Given the description of an element on the screen output the (x, y) to click on. 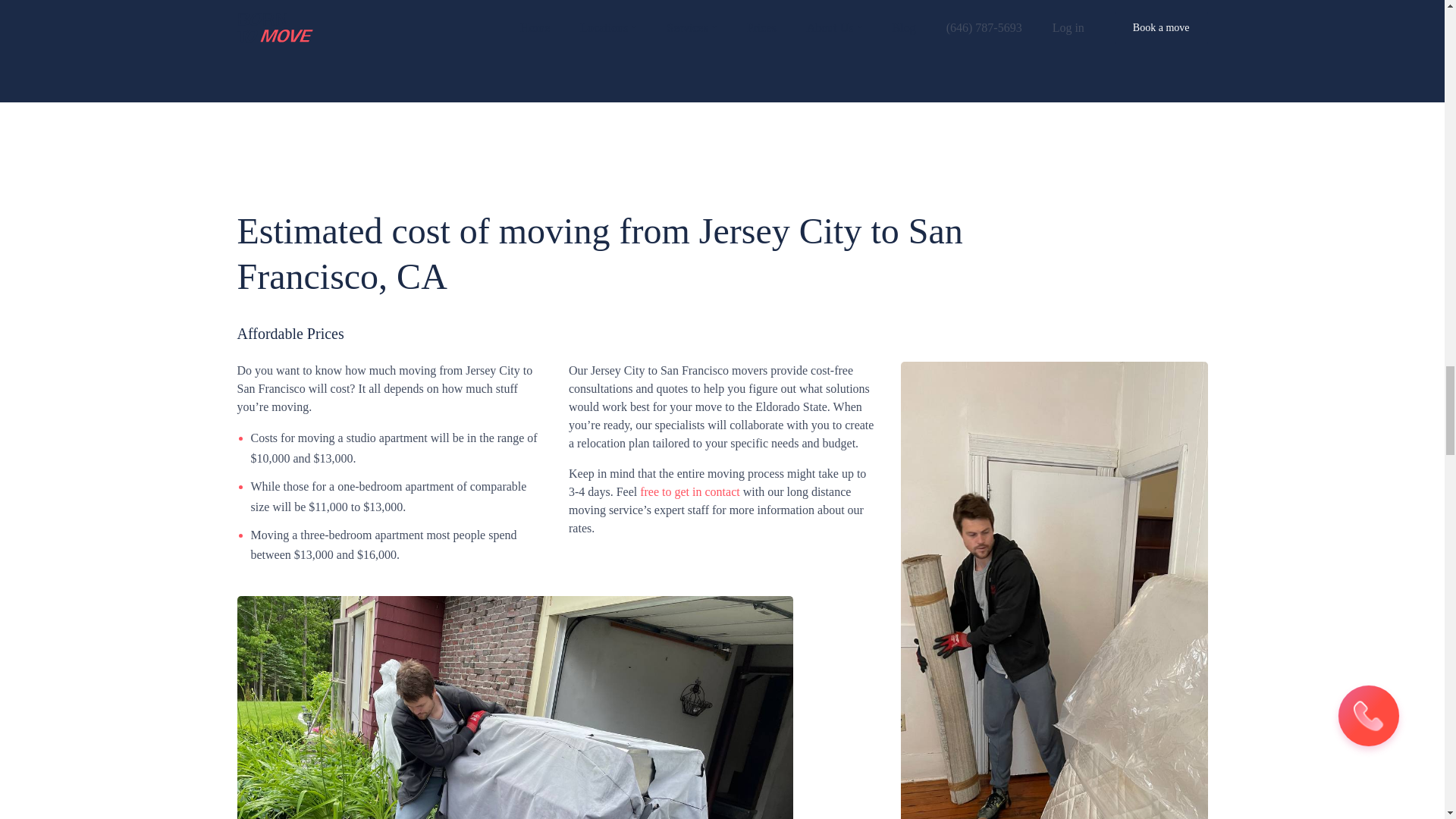
free to get in contact (689, 491)
